Given the description of an element on the screen output the (x, y) to click on. 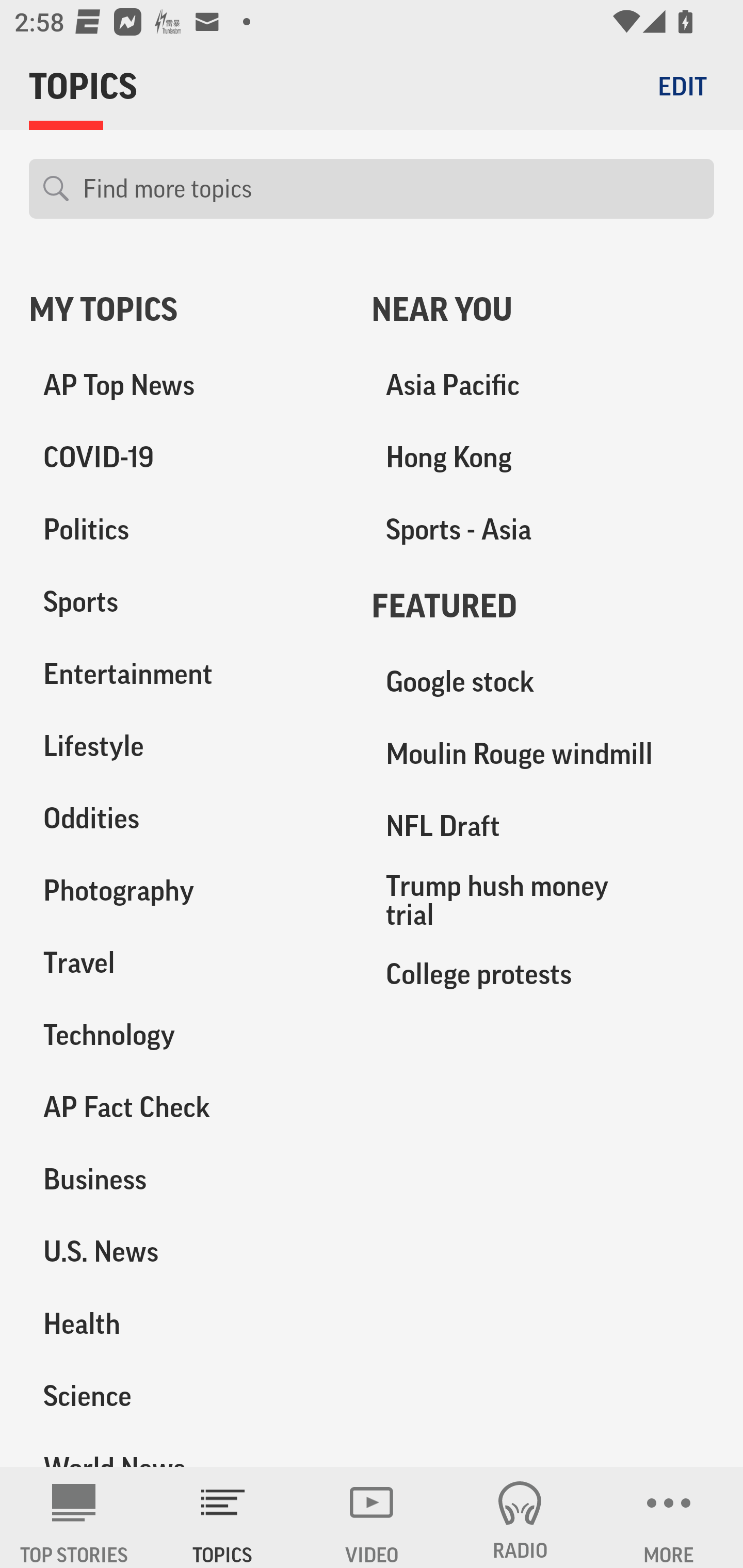
EDIT (682, 86)
Find more topics (391, 188)
AP Top News (185, 385)
Asia Pacific (542, 385)
COVID-19 (185, 457)
Hong Kong (542, 457)
Politics (185, 529)
Sports - Asia (542, 529)
Sports (185, 602)
Entertainment (185, 674)
Google stock (542, 682)
Lifestyle (185, 746)
Moulin Rouge windmill (542, 754)
Oddities (185, 818)
NFL Draft (542, 826)
Photography (185, 890)
Trump hush money trial (542, 899)
Travel (185, 962)
College protests (542, 973)
Technology (185, 1034)
AP Fact Check (185, 1106)
Business (185, 1179)
U.S. News (185, 1251)
Health (185, 1323)
Science (185, 1395)
AP News TOP STORIES (74, 1517)
TOPICS (222, 1517)
VIDEO (371, 1517)
RADIO (519, 1517)
MORE (668, 1517)
